Given the description of an element on the screen output the (x, y) to click on. 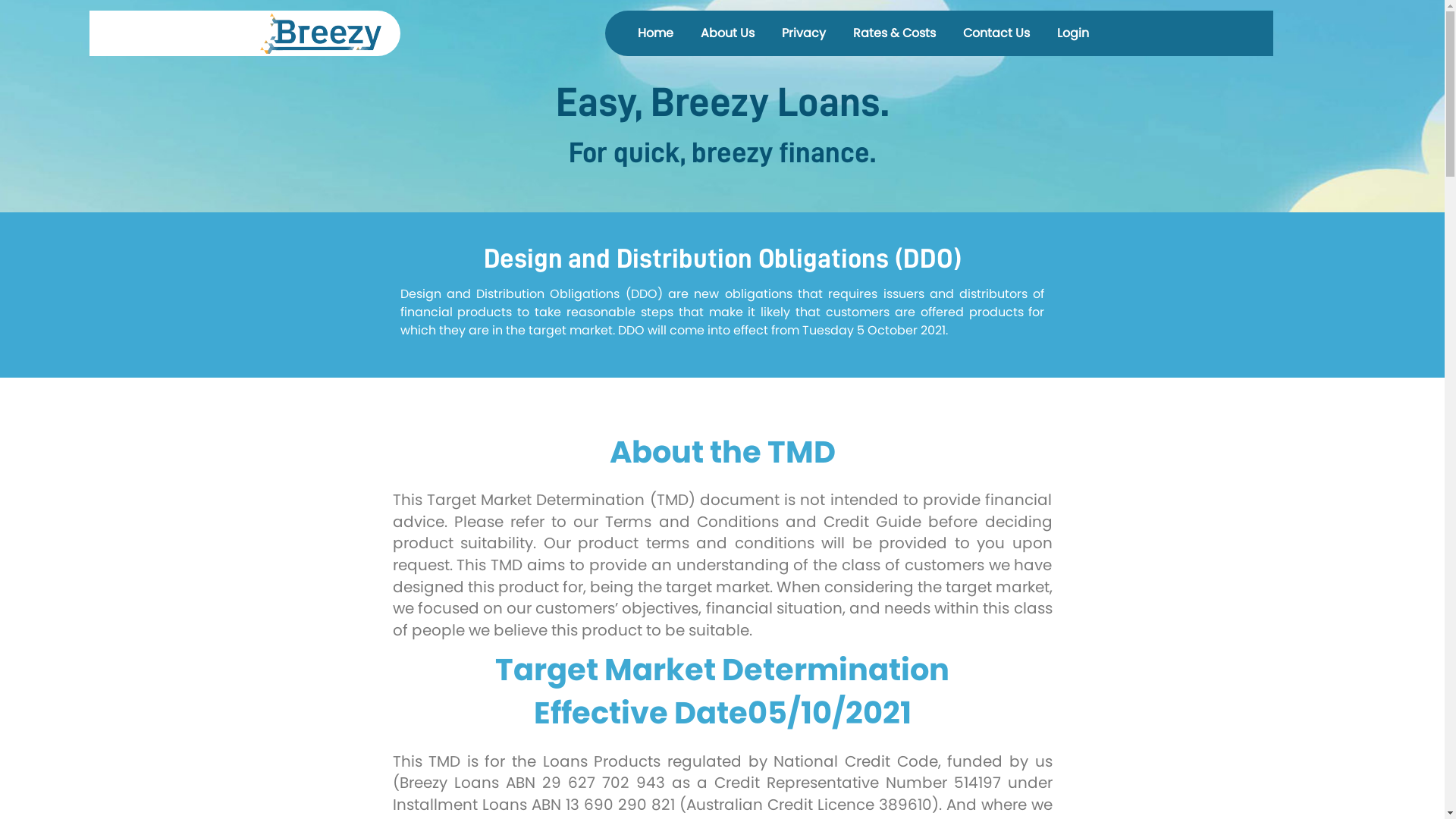
Contact Us Element type: text (996, 33)
Login Element type: text (1073, 33)
About Us Element type: text (727, 33)
Rates & Costs Element type: text (894, 33)
Home Element type: text (655, 33)
Privacy Element type: text (803, 33)
